Given the description of an element on the screen output the (x, y) to click on. 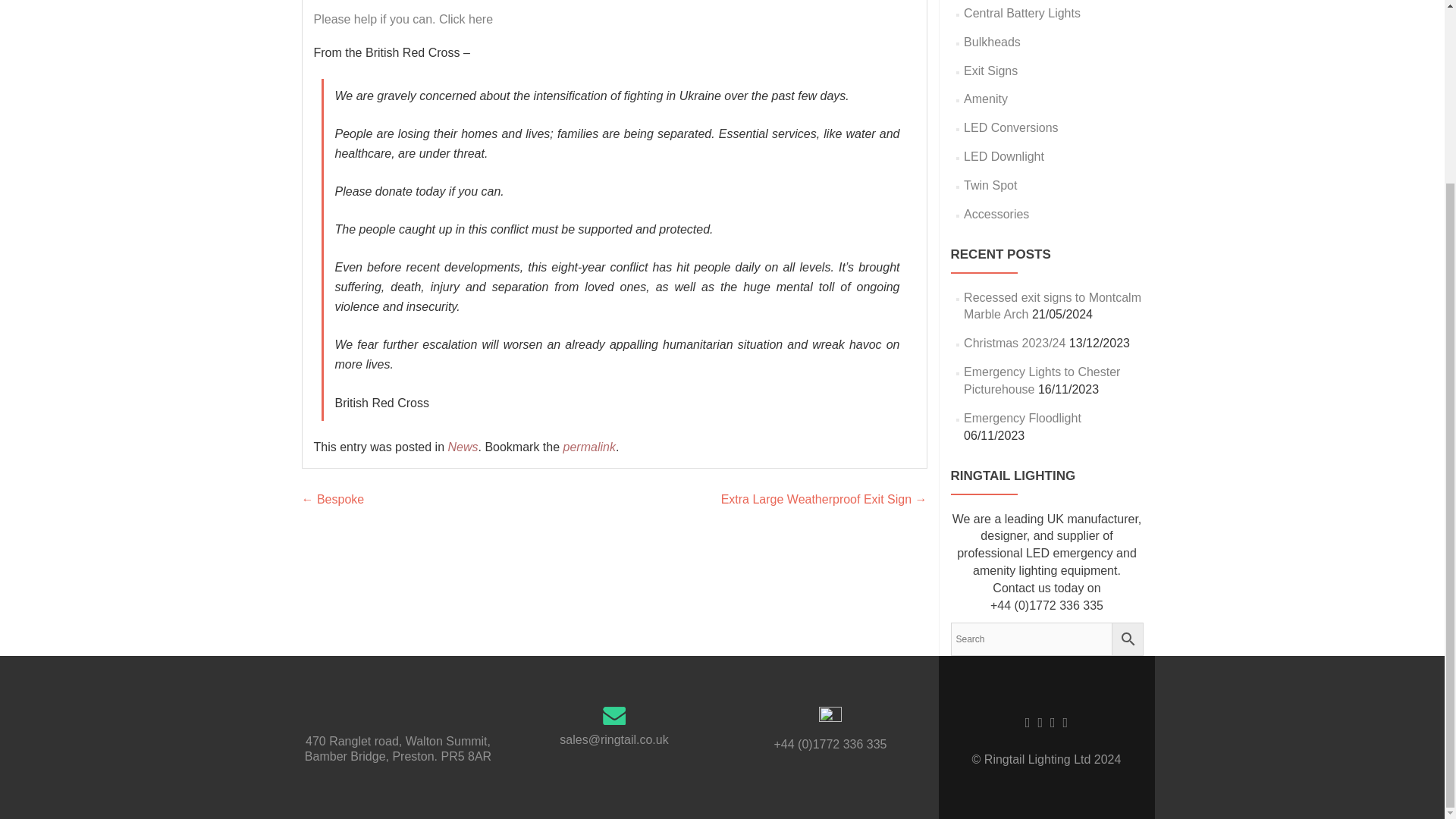
LED Conversions (1010, 127)
News (461, 446)
Amenity (985, 98)
Central Battery Lights (1021, 12)
Exit Signs (990, 70)
Bulkheads (991, 42)
LED Downlight (1003, 155)
Twin Spot (989, 185)
Please help if you can. Click here (403, 19)
permalink (589, 446)
